Given the description of an element on the screen output the (x, y) to click on. 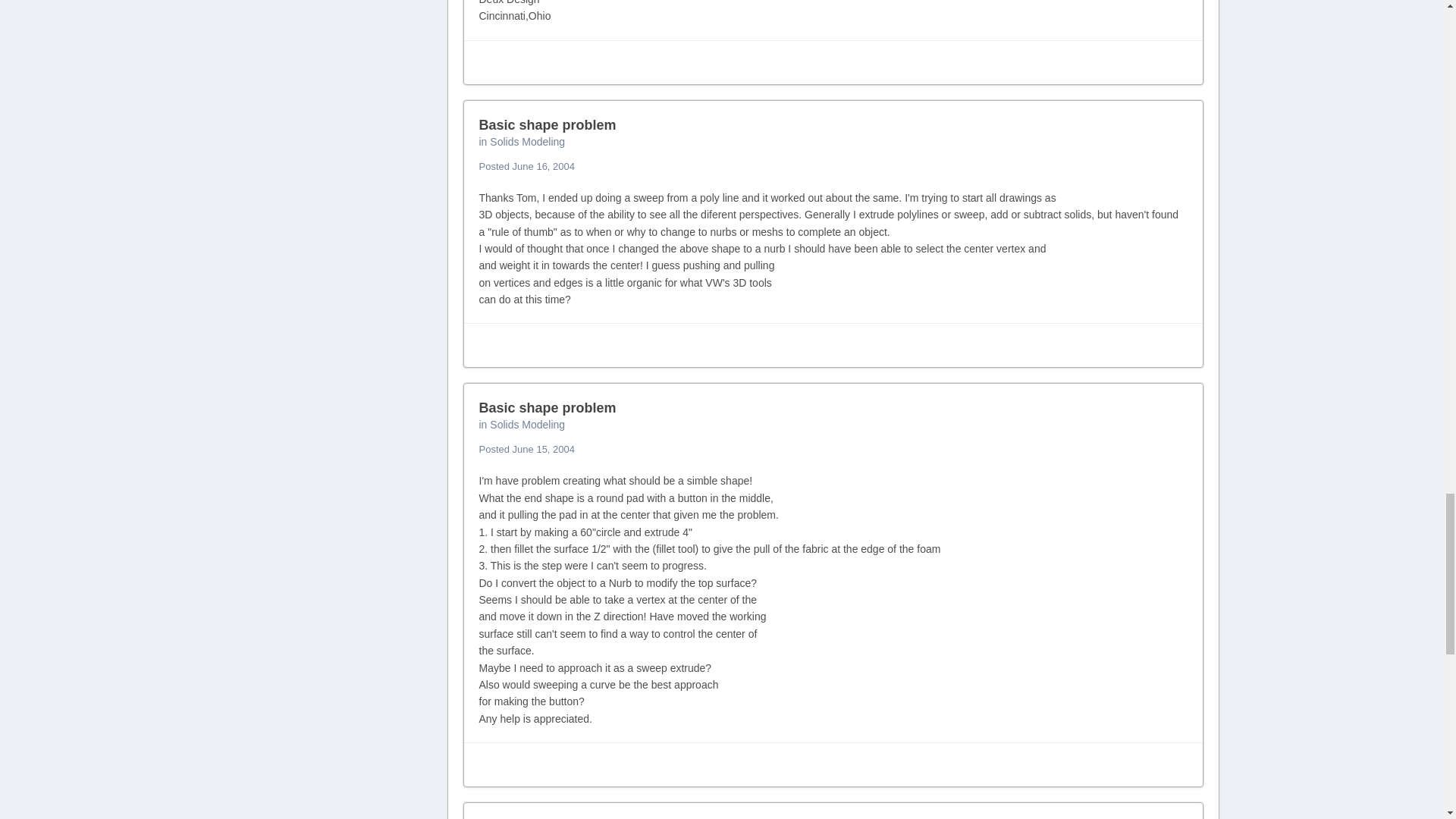
View the topic Basic shape problem (547, 124)
